Given the description of an element on the screen output the (x, y) to click on. 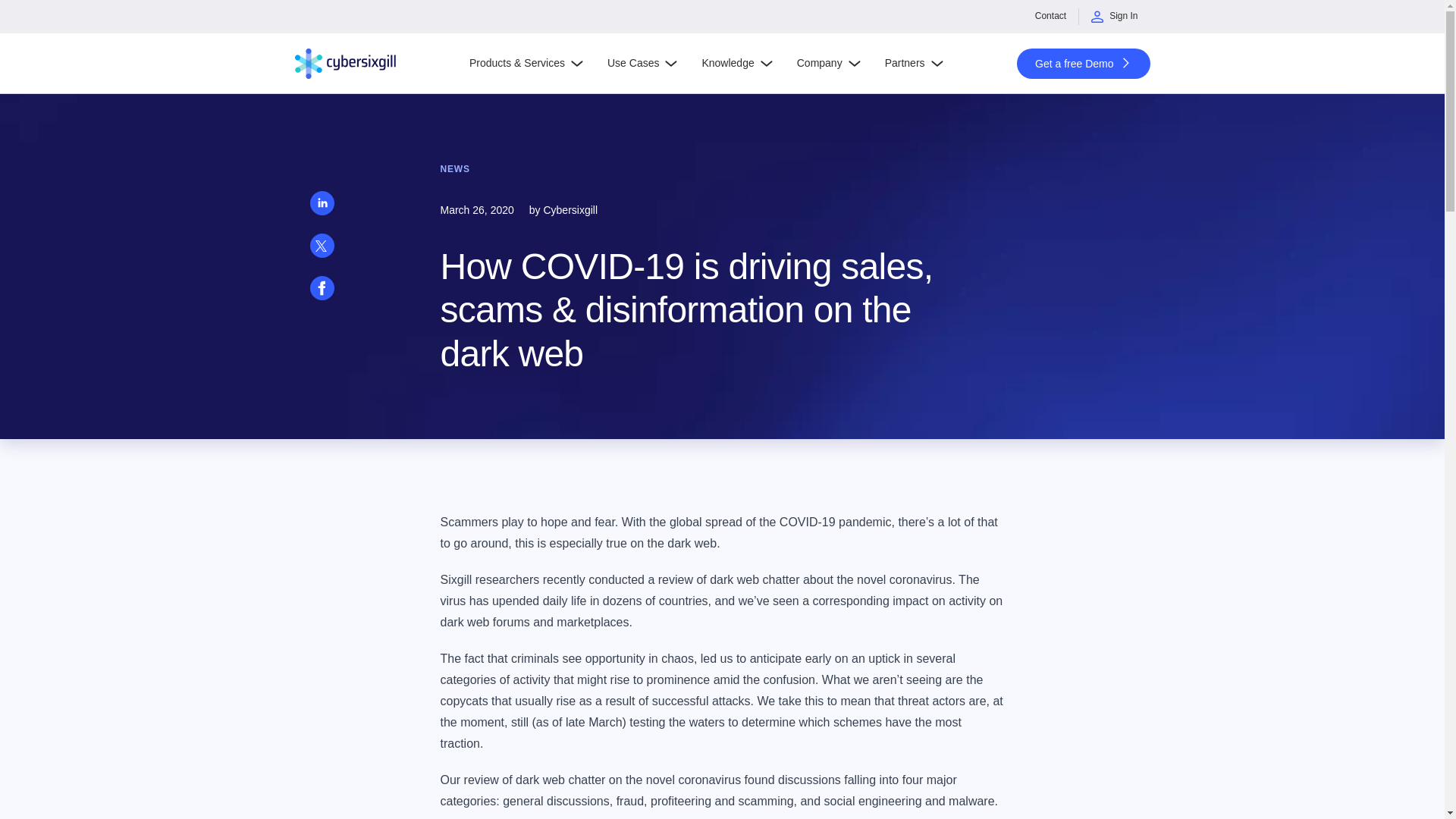
Partners (913, 63)
Knowledge (736, 63)
Company (828, 63)
Get a free Demo (1083, 63)
Use Cases (641, 63)
Sign In (1114, 16)
Contact (1050, 16)
